Given the description of an element on the screen output the (x, y) to click on. 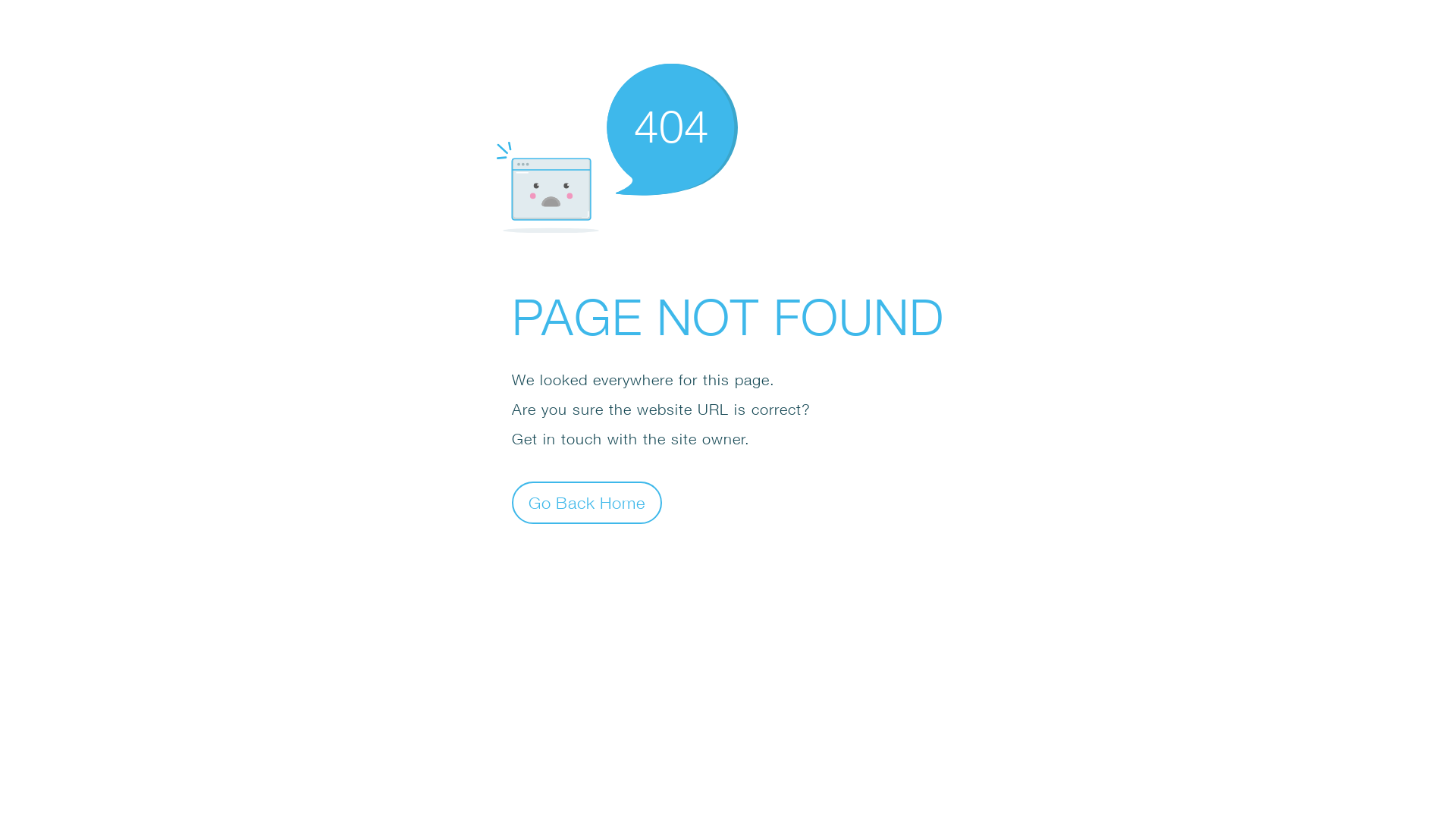
Go Back Home Element type: text (586, 502)
